Given the description of an element on the screen output the (x, y) to click on. 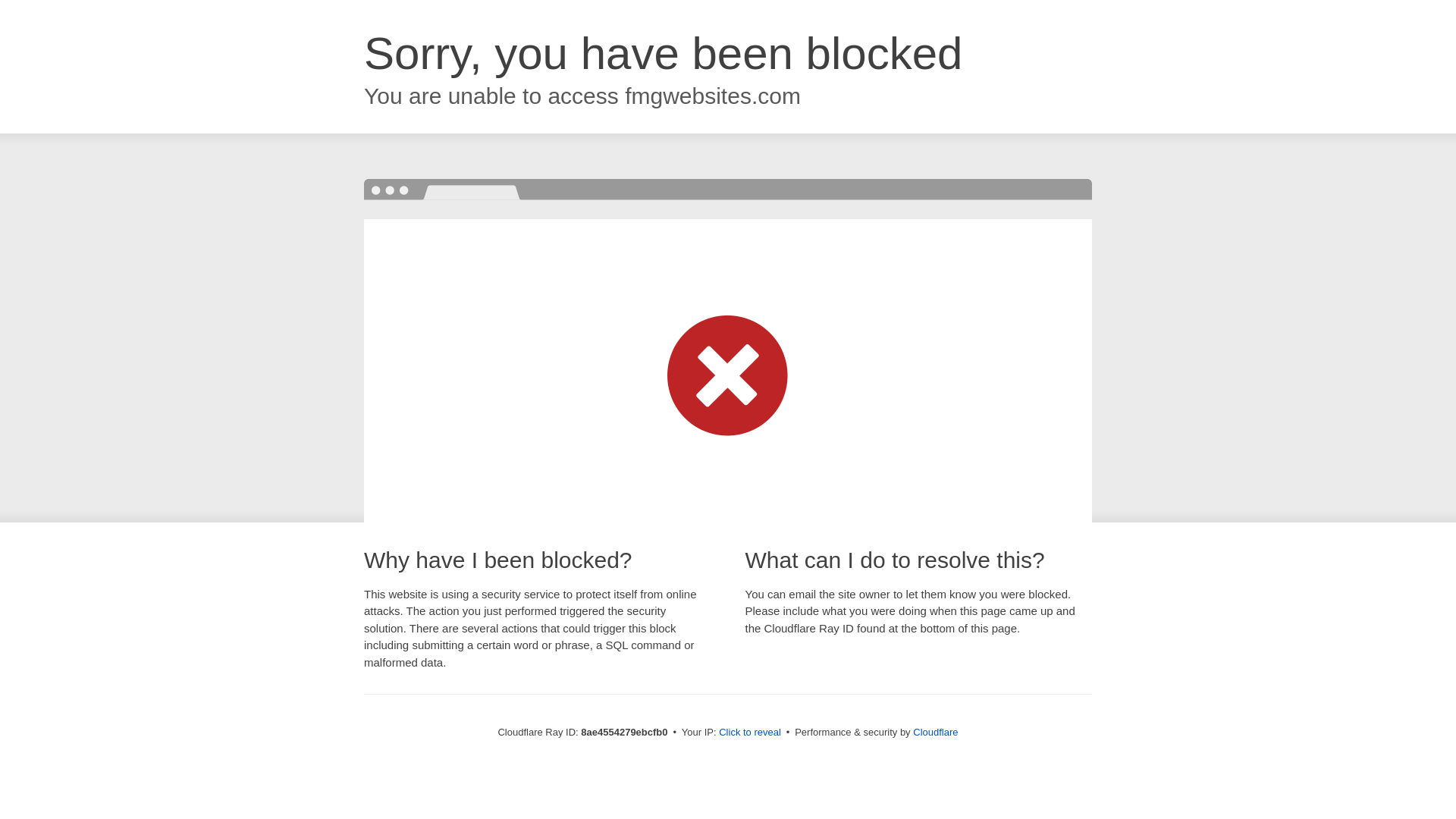
Click to reveal (751, 732)
Cloudflare (937, 731)
